Given the description of an element on the screen output the (x, y) to click on. 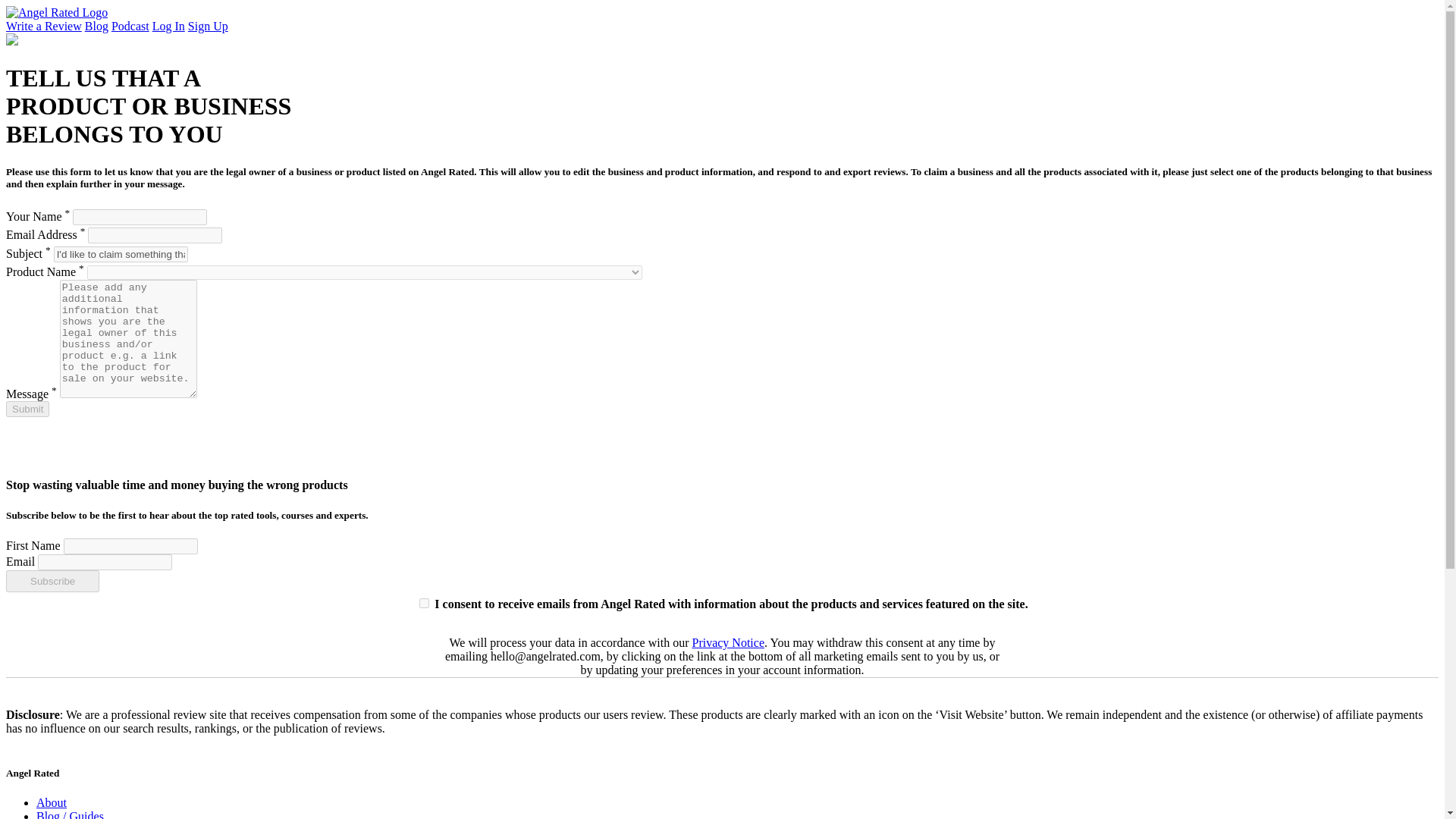
Sign Up (207, 25)
on (424, 603)
I'd like to claim something that belongs to me. (120, 254)
Log In (168, 25)
Blog (95, 25)
Podcast (130, 25)
Write a Review (43, 25)
Privacy Notice (727, 642)
Subscribe (52, 581)
About (51, 802)
Submit (27, 408)
